Given the description of an element on the screen output the (x, y) to click on. 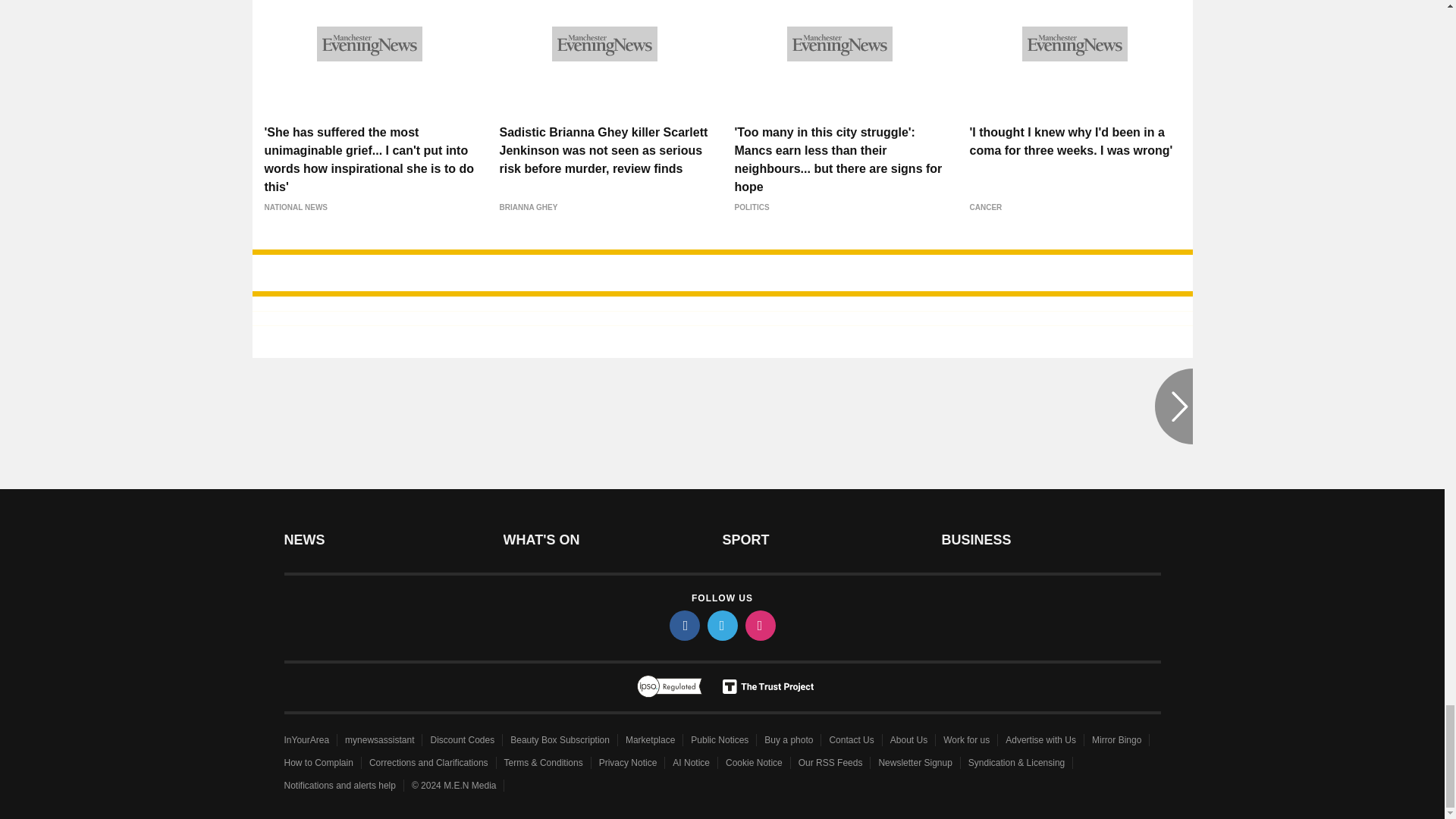
facebook (683, 625)
instagram (759, 625)
twitter (721, 625)
